Given the description of an element on the screen output the (x, y) to click on. 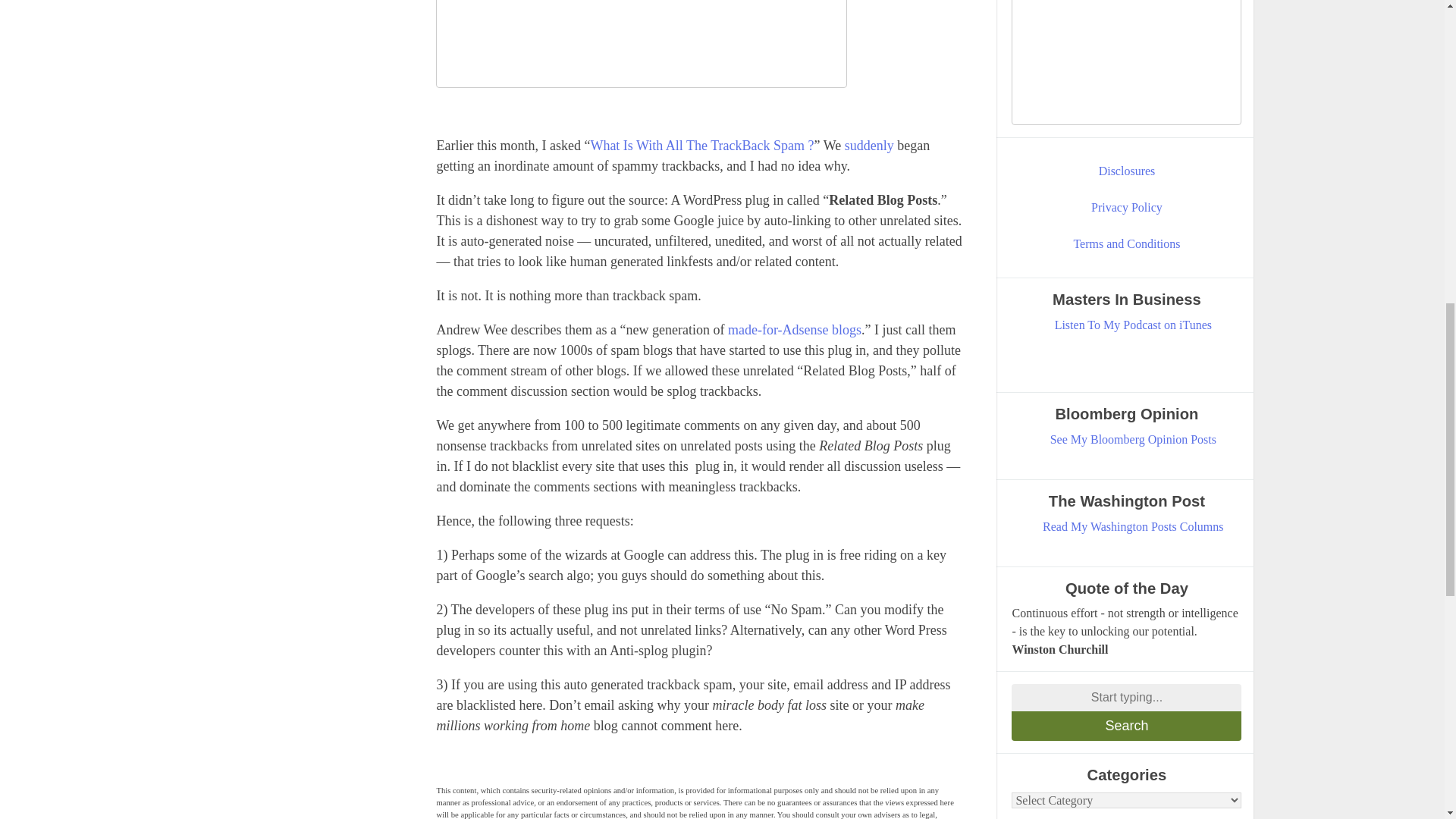
Terms and Conditions (1126, 244)
Search (1126, 726)
Disclosures (1126, 171)
Read My Washington Posts Columns (1132, 526)
made-for-Adsense blogs (794, 329)
What Is With All The TrackBack Spam ? (701, 145)
suddenly (868, 145)
See My Bloomberg Opinion Posts (1132, 439)
Privacy Policy (1126, 208)
Listen To My Podcast on iTunes (1132, 325)
spam plug in spike (641, 43)
Search (1126, 726)
Search (1126, 726)
